Given the description of an element on the screen output the (x, y) to click on. 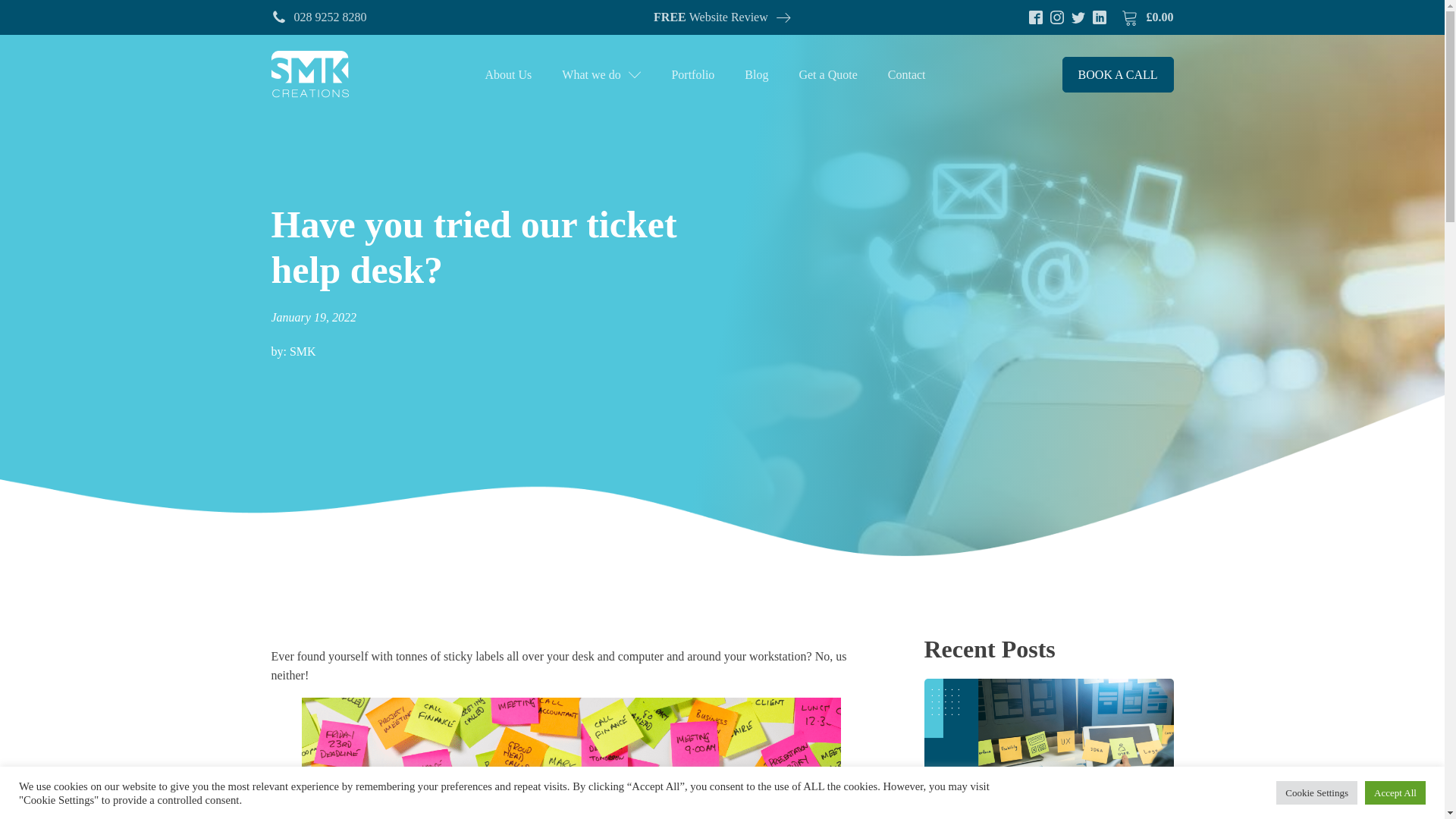
Contact (906, 74)
July 31, 2024 (1048, 808)
028 9252 8280 (318, 17)
Get a Quote (827, 74)
Portfolio (692, 74)
FREE Website Review (721, 17)
Blog (756, 74)
What we do (601, 74)
About Us (508, 74)
BOOK A CALL (1117, 74)
